Given the description of an element on the screen output the (x, y) to click on. 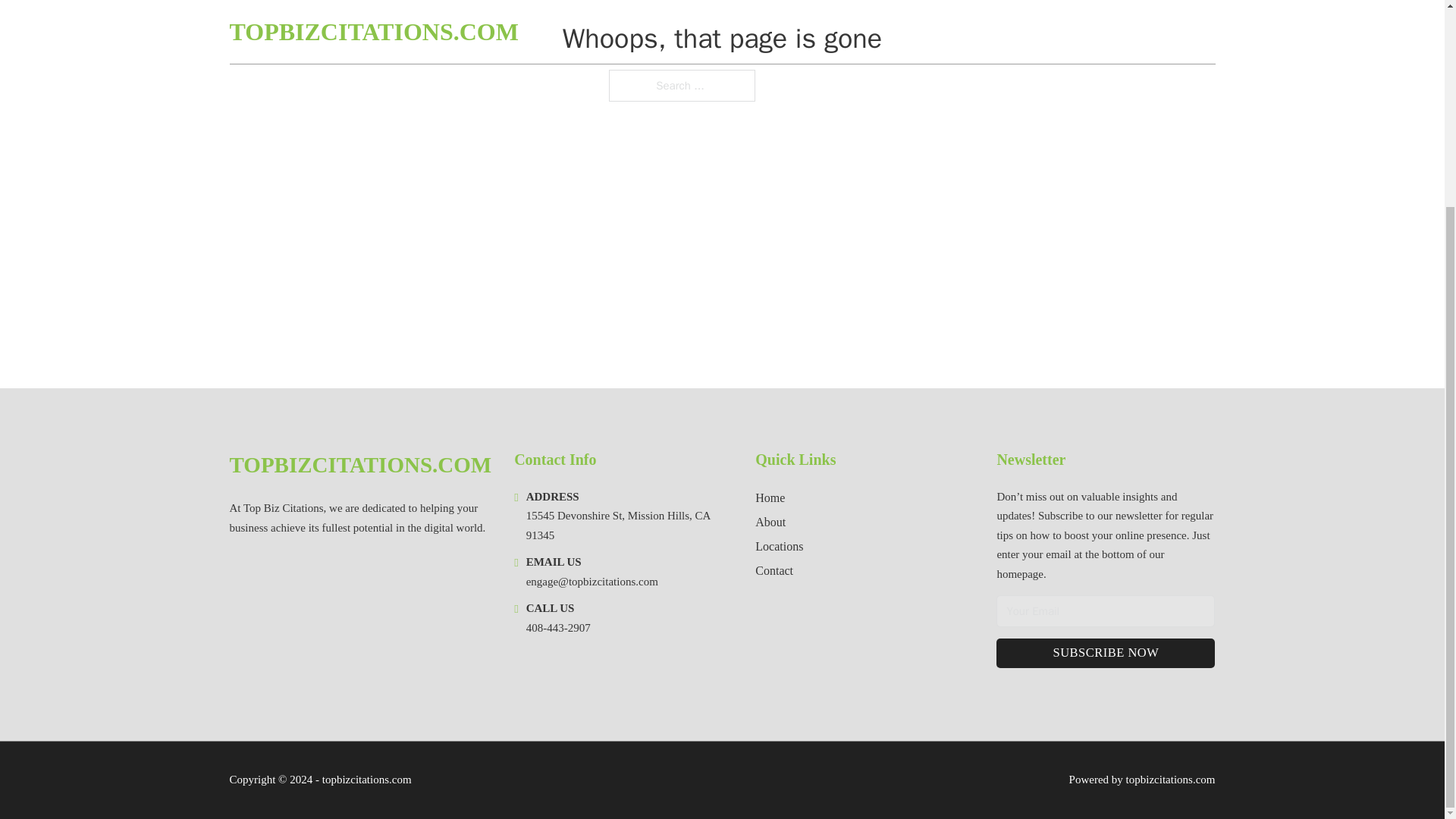
Contact (774, 570)
About (770, 521)
Home (769, 497)
SUBSCRIBE NOW (1104, 653)
Locations (779, 546)
TOPBIZCITATIONS.COM (360, 465)
408-443-2907 (558, 627)
